Given the description of an element on the screen output the (x, y) to click on. 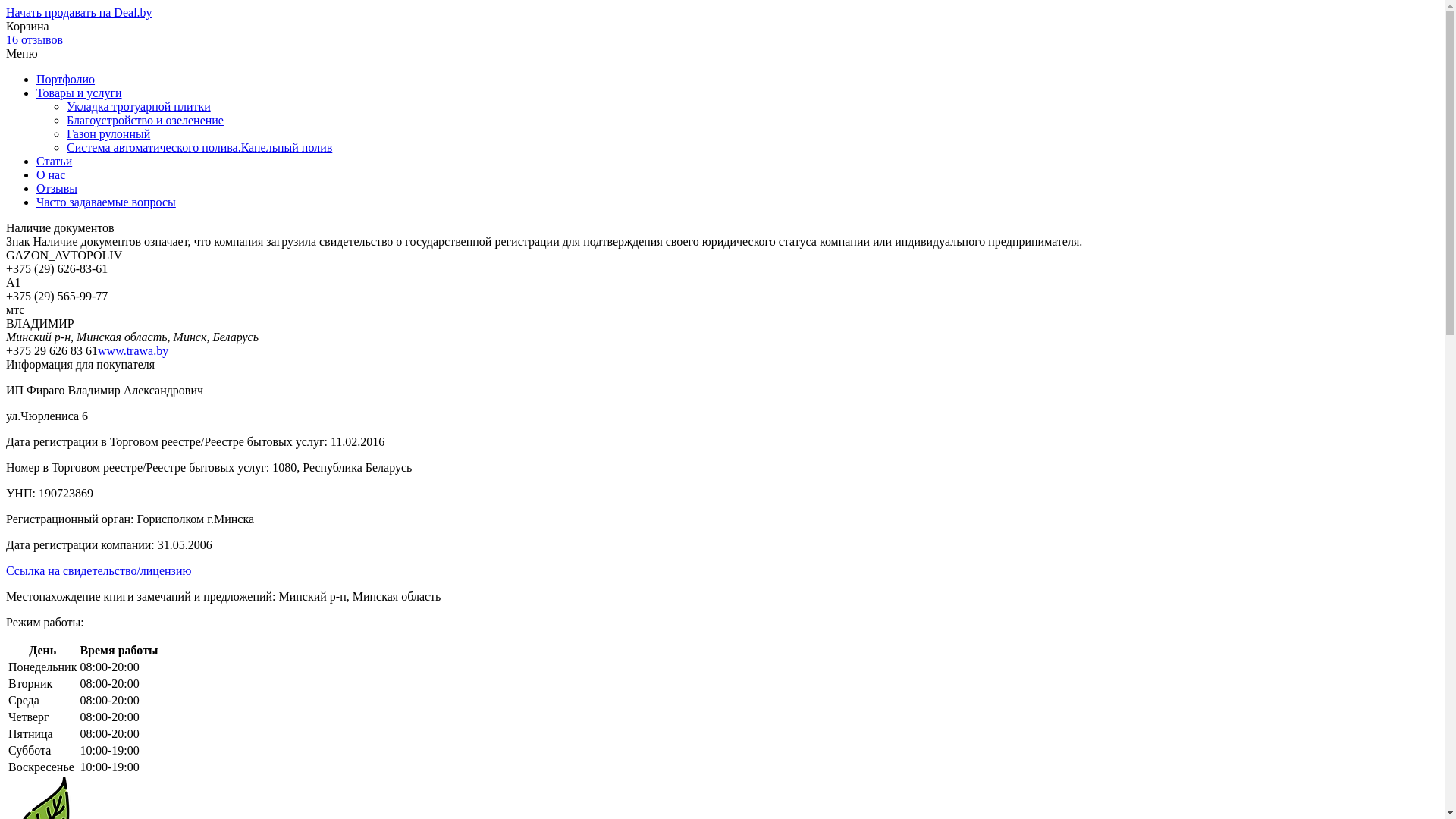
www.trawa.by Element type: text (132, 350)
